Given the description of an element on the screen output the (x, y) to click on. 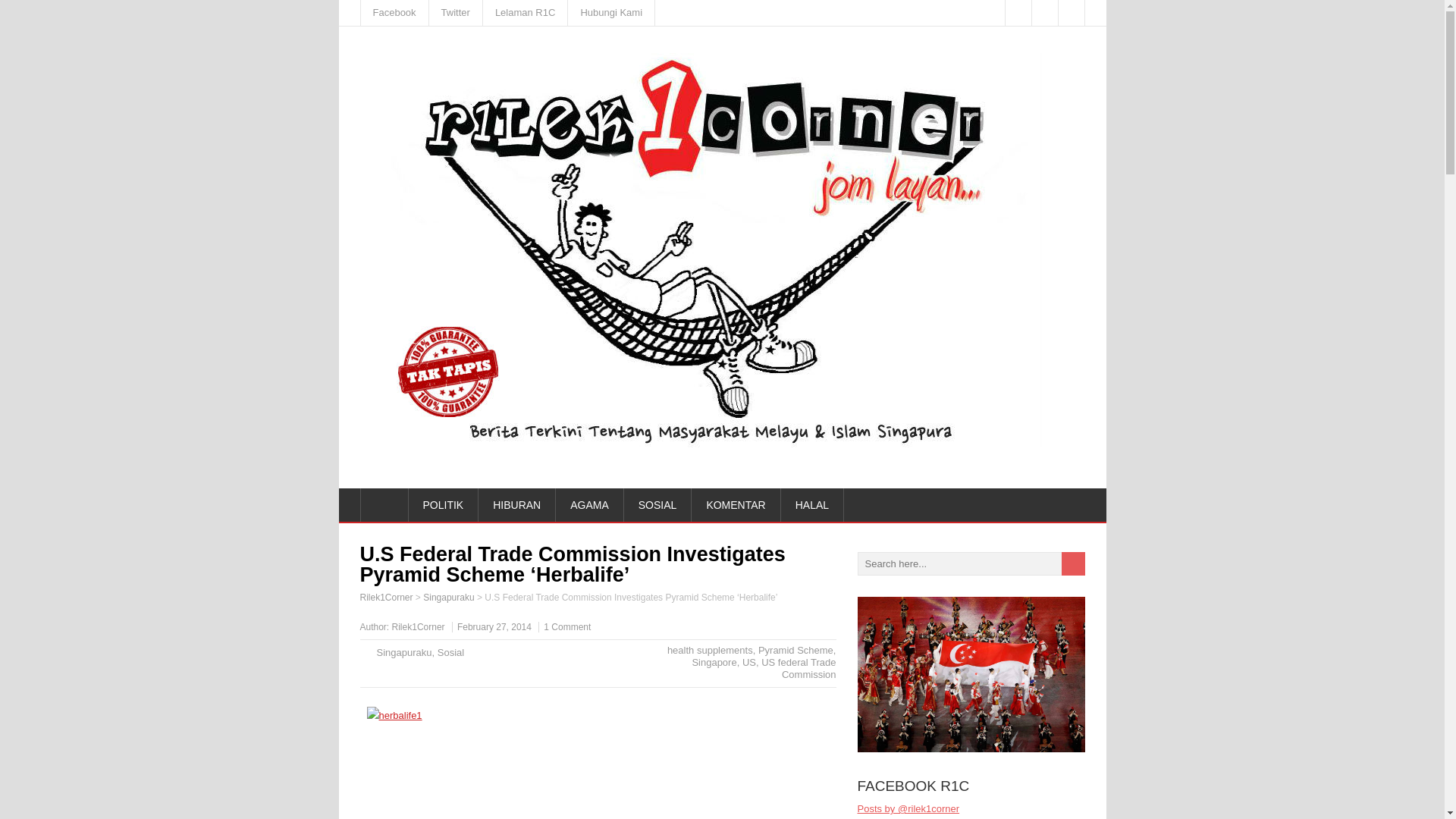
US federal Trade Commission (798, 668)
health supplements (709, 650)
Rilek1Corner (385, 597)
Facebook (395, 12)
HALAL (812, 504)
Hubungi Kami (611, 12)
Go to the Singapuraku category archives. (448, 597)
KOMENTAR (735, 504)
HIBURAN (517, 504)
Posts by Rilek1Corner (418, 626)
